Given the description of an element on the screen output the (x, y) to click on. 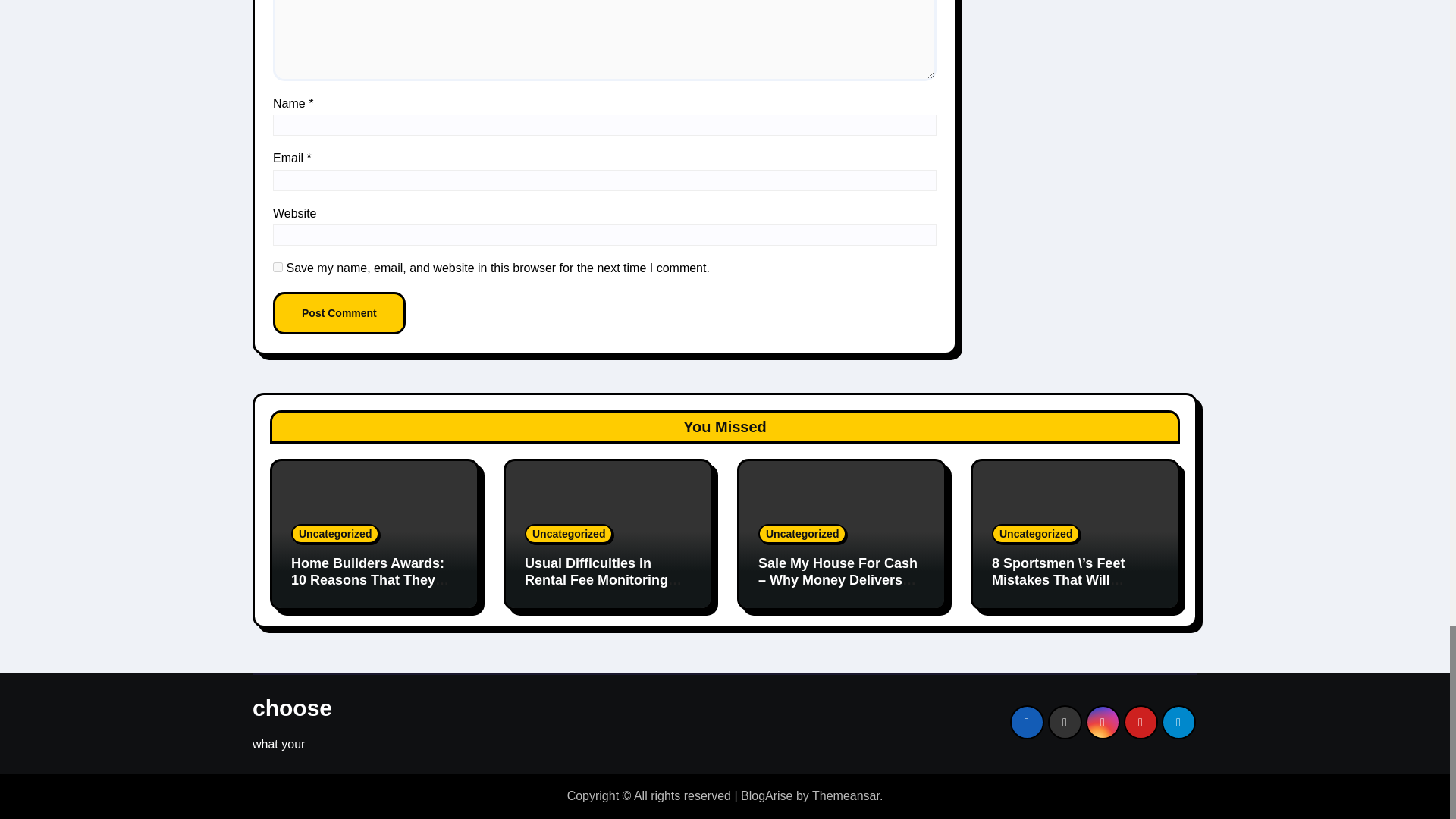
yes (277, 266)
Post Comment (339, 312)
